Given the description of an element on the screen output the (x, y) to click on. 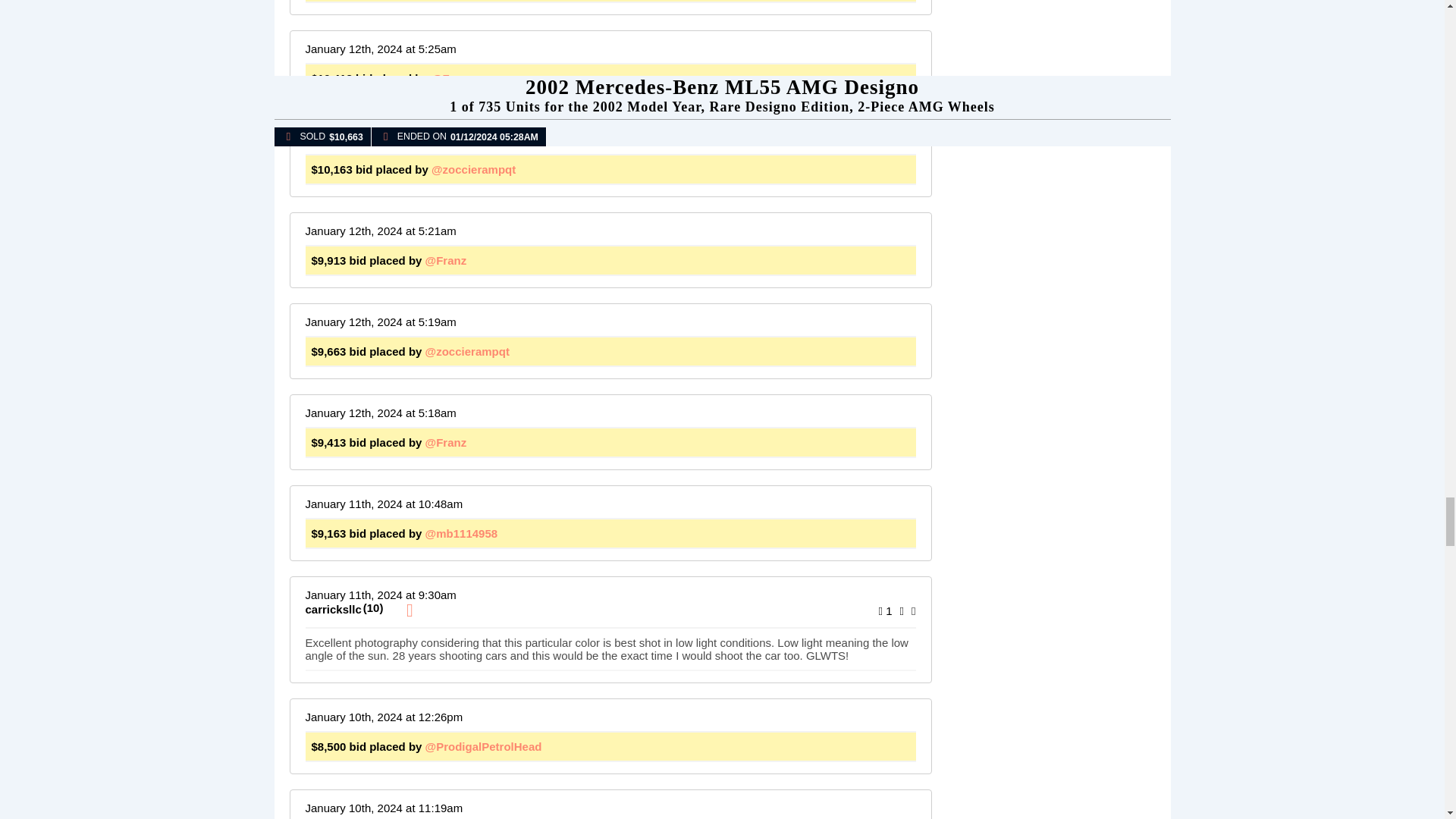
Verified (408, 610)
Like (885, 610)
View Profile (332, 608)
